Given the description of an element on the screen output the (x, y) to click on. 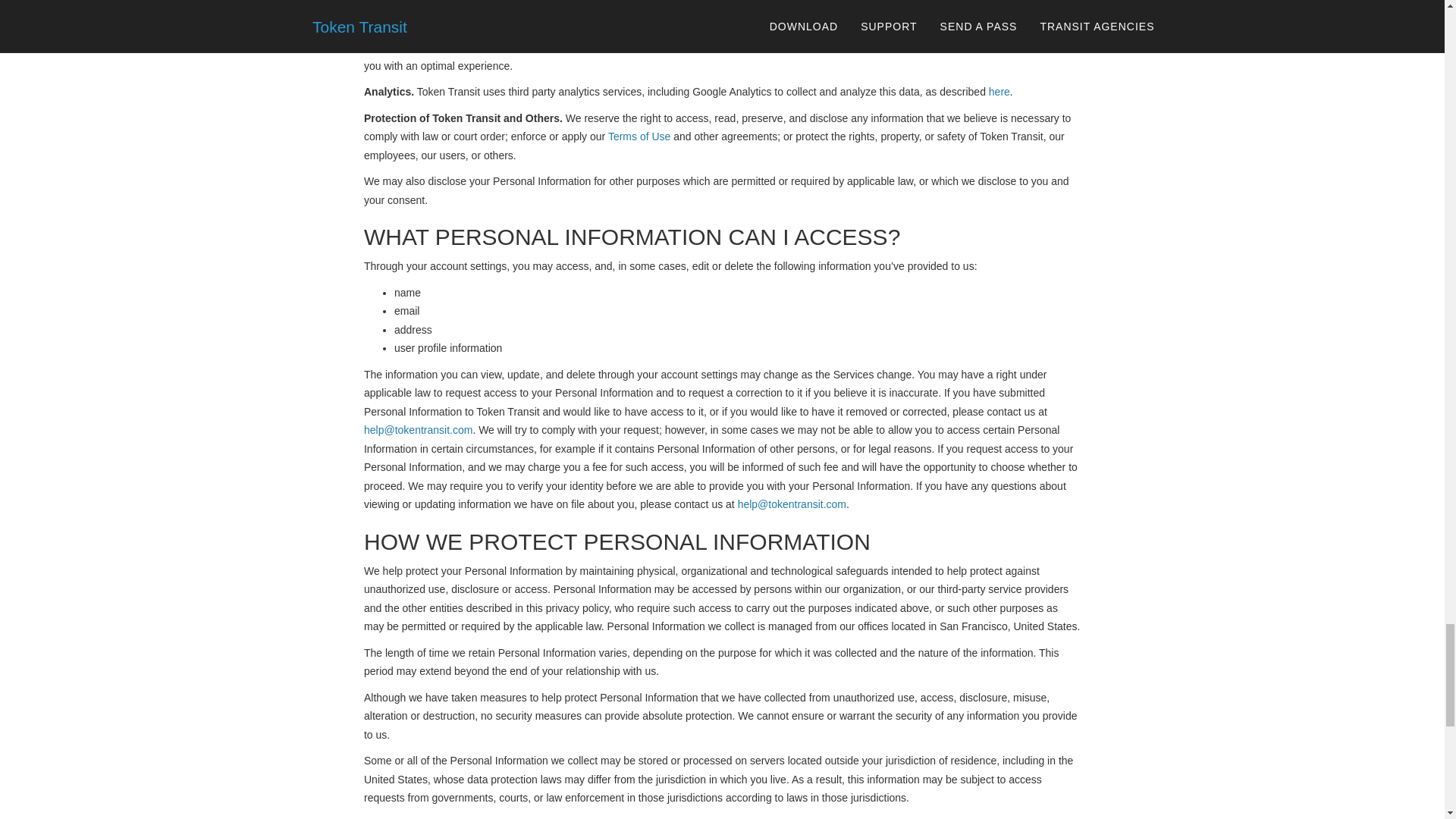
Terms of Use (638, 136)
here (999, 91)
